Given the description of an element on the screen output the (x, y) to click on. 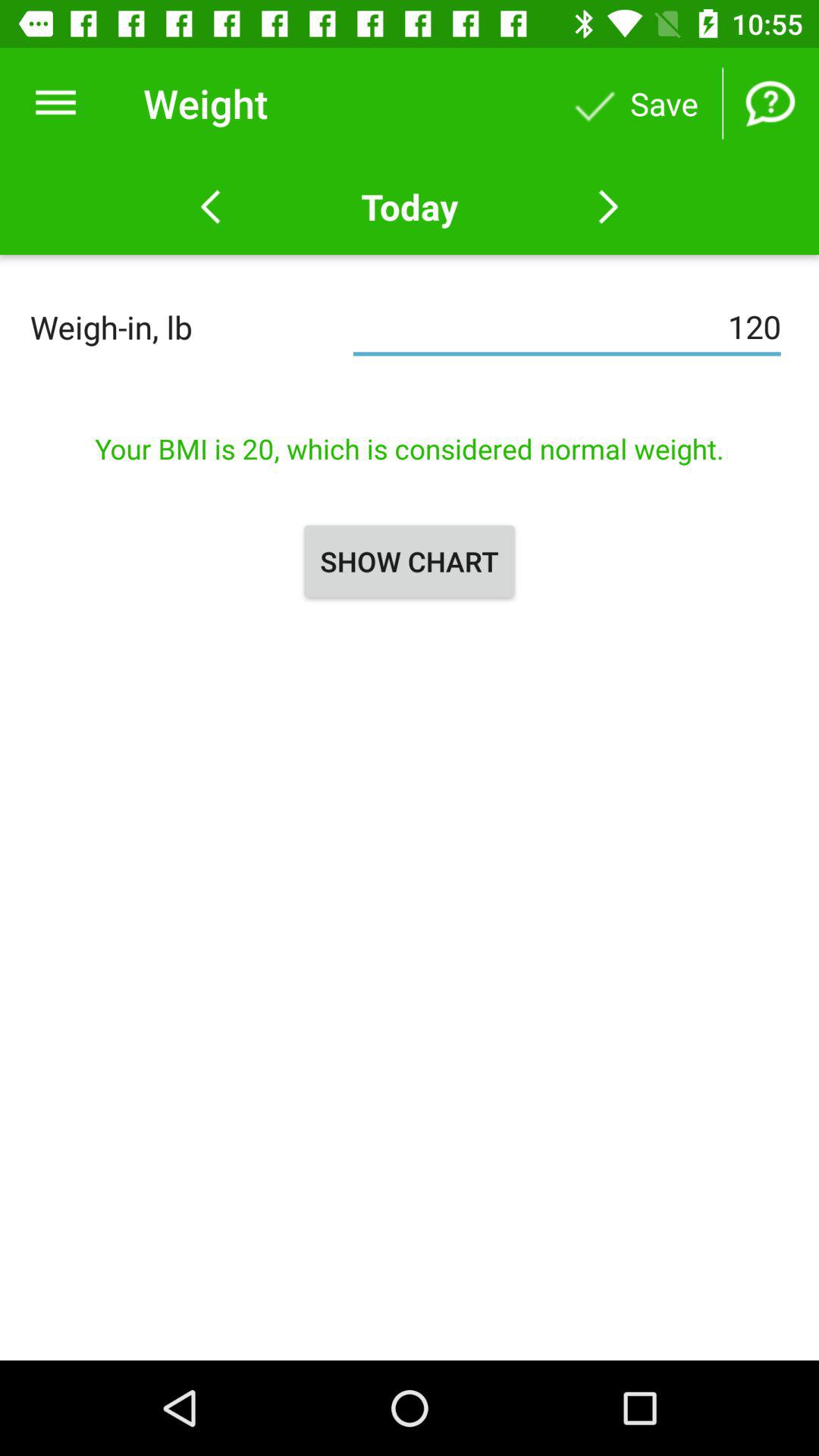
press the item next to the weigh-in, lb item (566, 326)
